Given the description of an element on the screen output the (x, y) to click on. 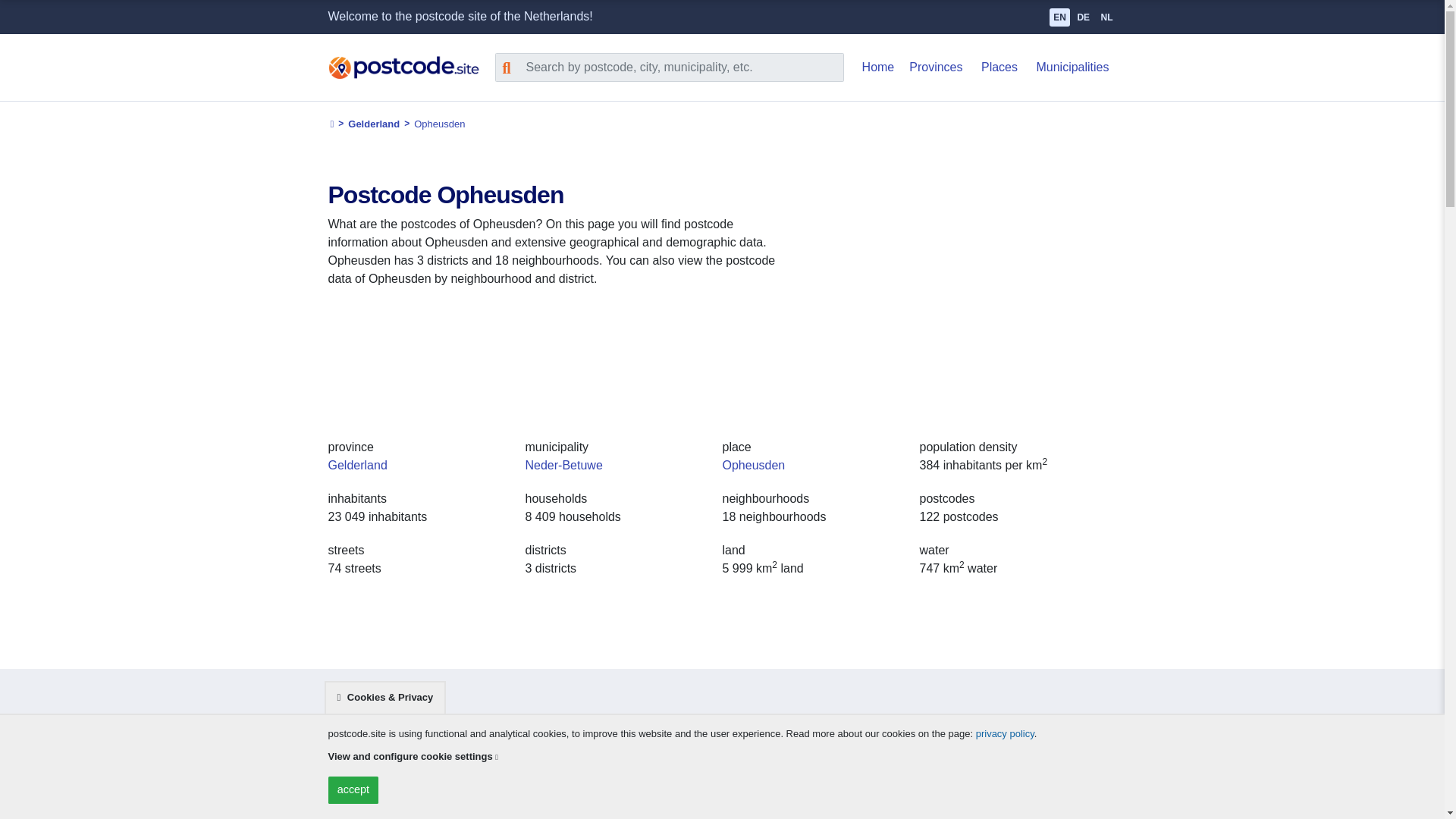
DE (1083, 17)
Places (999, 67)
Home (878, 67)
NL (1106, 17)
Neder-Betuwe (563, 464)
Municipalities (1071, 67)
Provinces (935, 67)
Advertisement (964, 286)
Opheusden (753, 464)
